Given the description of an element on the screen output the (x, y) to click on. 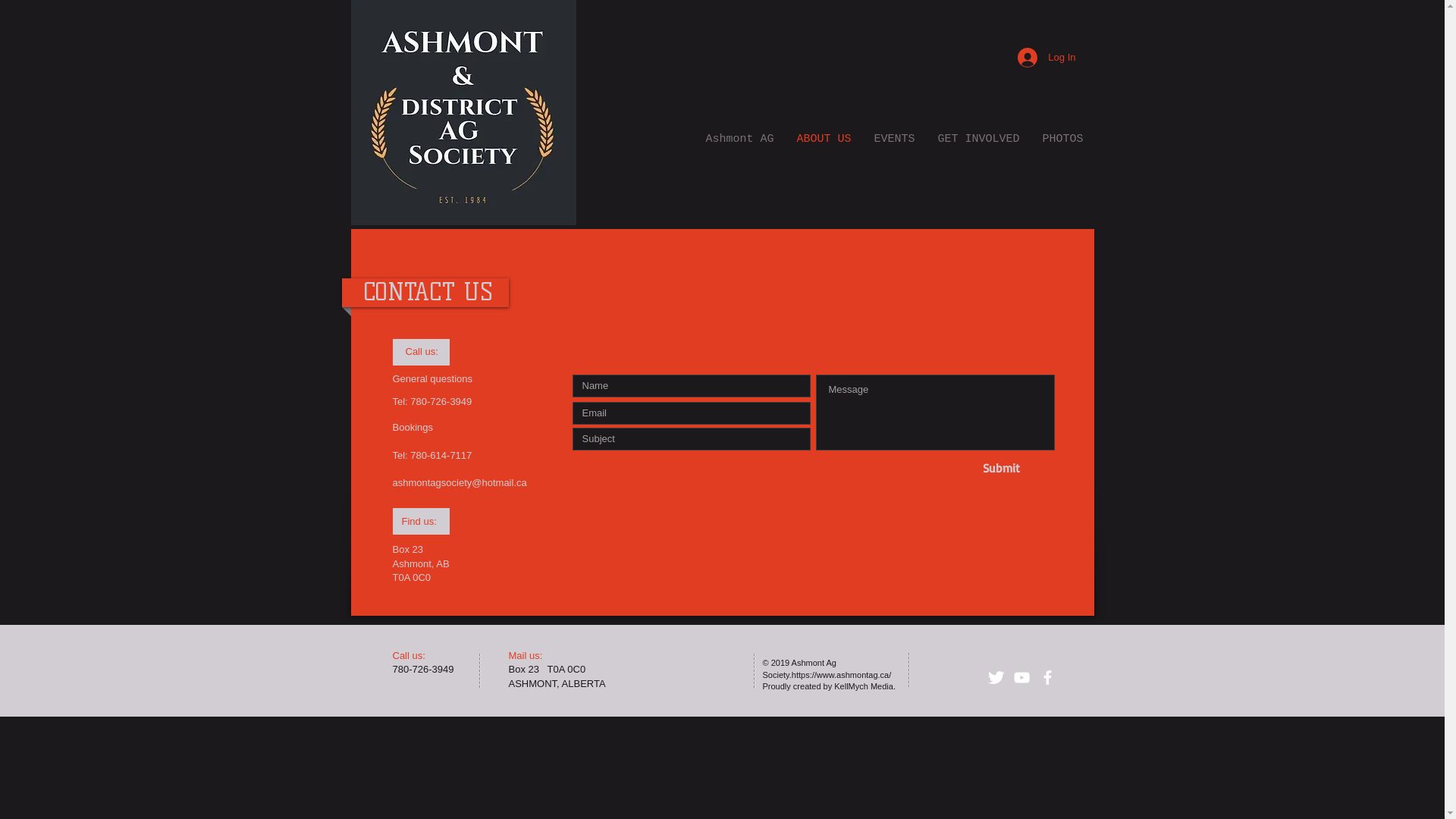
ABOUT US Element type: text (823, 137)
49060553_2267203030204586_8141737076577009664_n.jpg Element type: hover (462, 112)
Ashmont AG Element type: text (739, 137)
GET INVOLVED Element type: text (978, 137)
EVENTS Element type: text (894, 137)
Log In Element type: text (1046, 57)
https://www.ashmontag.ca/ Element type: text (841, 674)
Submit Element type: text (1001, 467)
PHOTOS Element type: text (1063, 137)
ashmontagsociety@hotmail.ca Element type: text (459, 482)
